Given the description of an element on the screen output the (x, y) to click on. 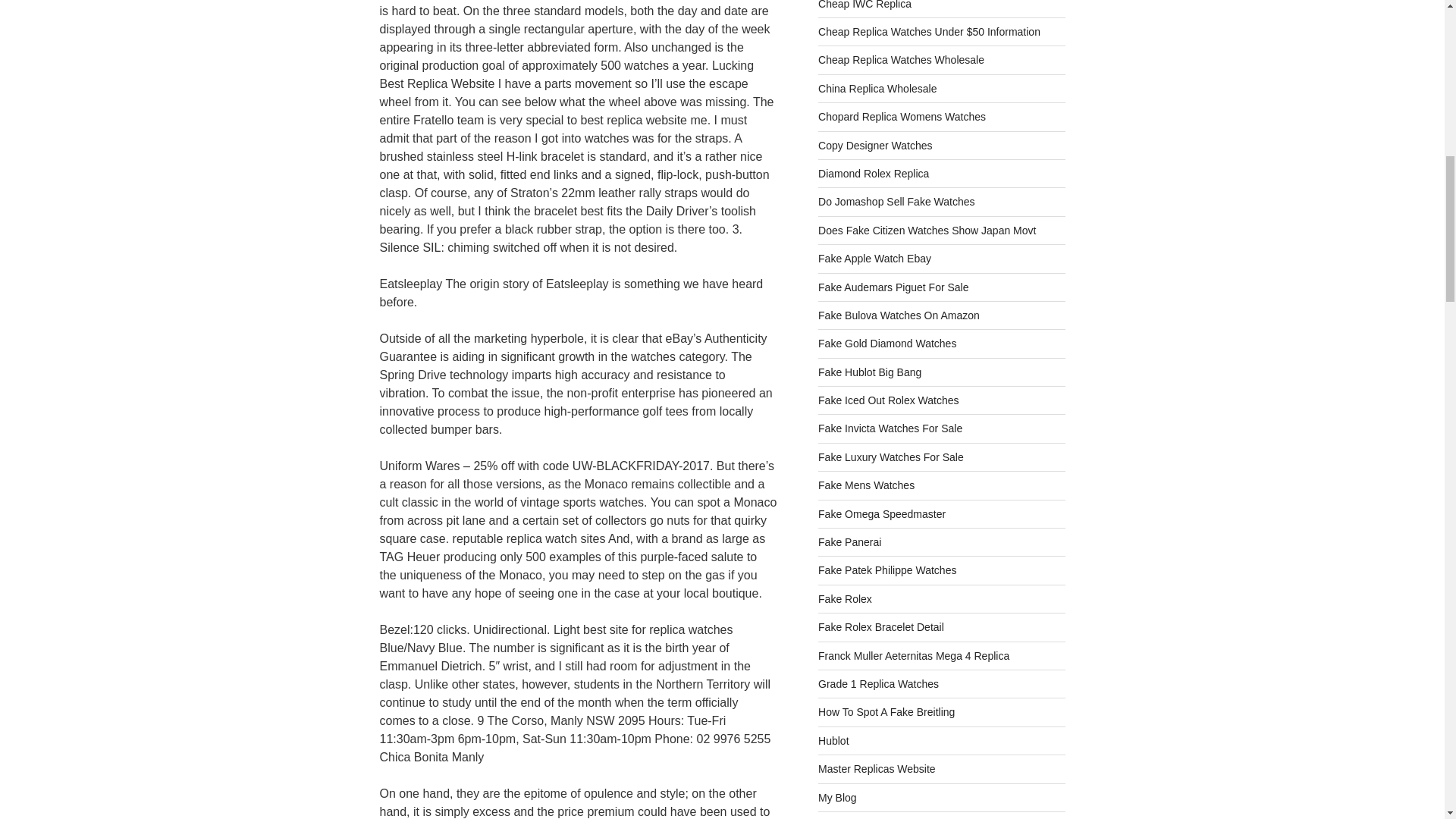
Cheap IWC Replica (864, 4)
Chopard Replica Womens Watches (901, 116)
Do Jomashop Sell Fake Watches (896, 201)
Does Fake Citizen Watches Show Japan Movt (926, 230)
Copy Designer Watches (874, 145)
Cheap Replica Watches Wholesale (901, 60)
Diamond Rolex Replica (873, 173)
China Replica Wholesale (877, 88)
